Given the description of an element on the screen output the (x, y) to click on. 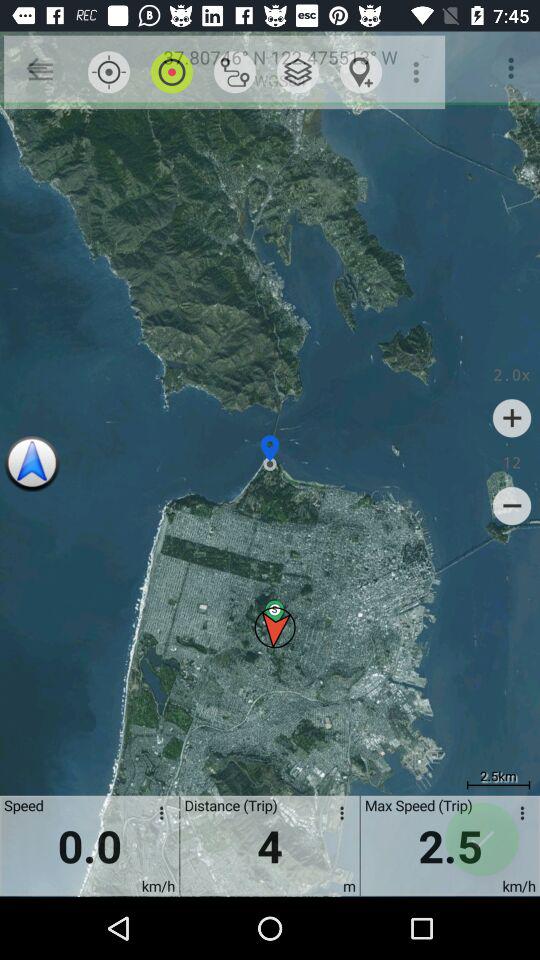
press the icon below 12 item (512, 505)
